Given the description of an element on the screen output the (x, y) to click on. 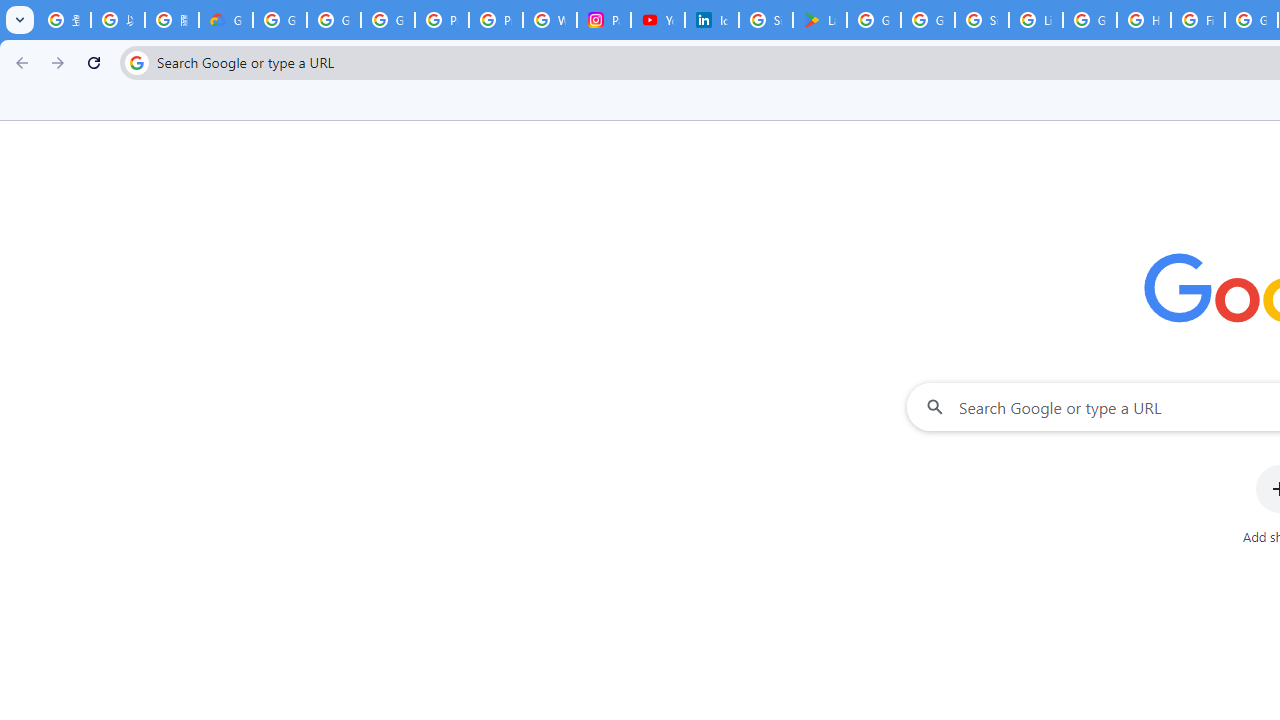
Sign in - Google Accounts (765, 20)
Sign in - Google Accounts (981, 20)
Privacy Help Center - Policies Help (495, 20)
